Given the description of an element on the screen output the (x, y) to click on. 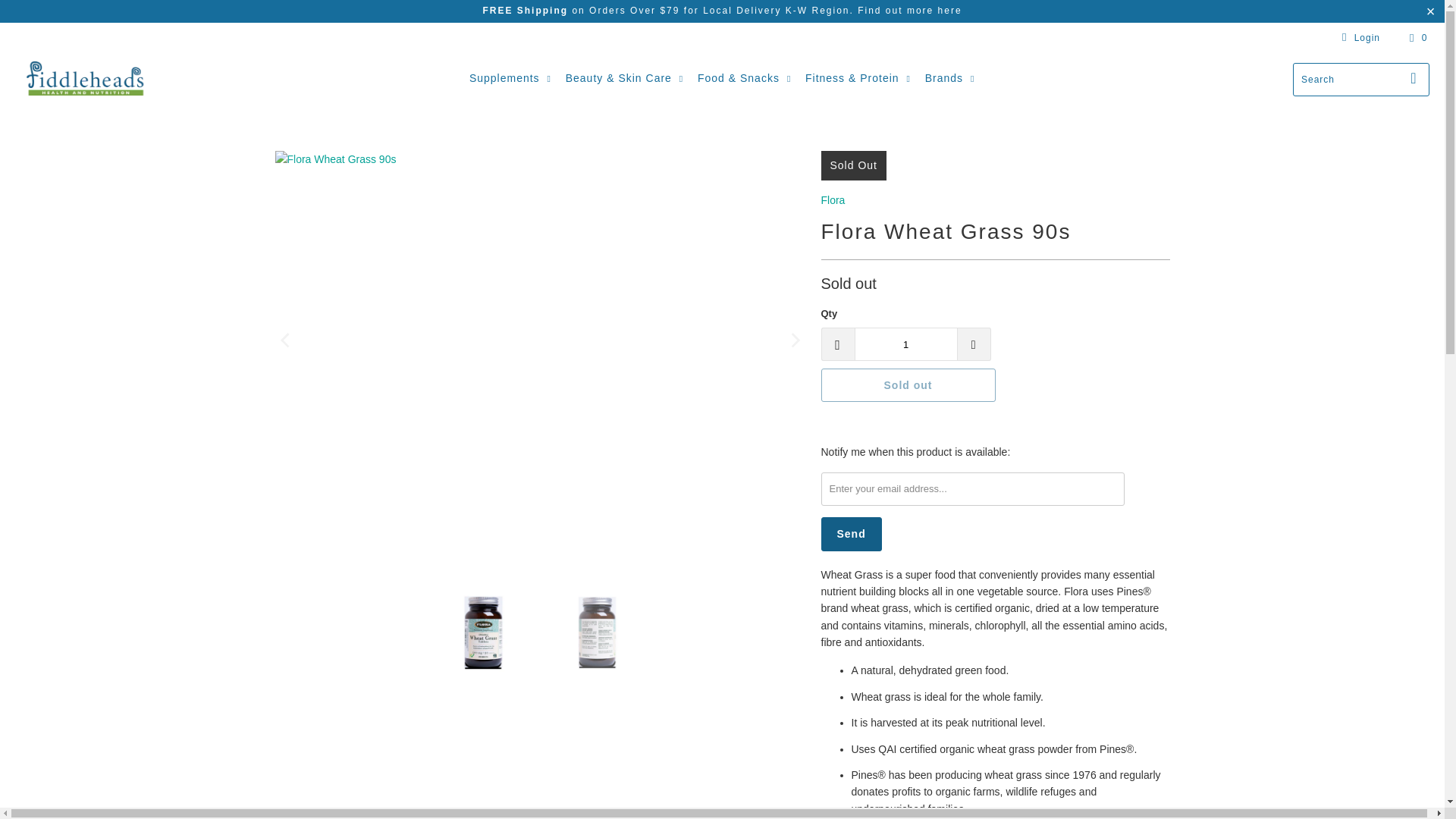
1 (904, 344)
Fiddleheads Health and Nutrition (84, 78)
My Account  (1358, 37)
Send (850, 533)
